Given the description of an element on the screen output the (x, y) to click on. 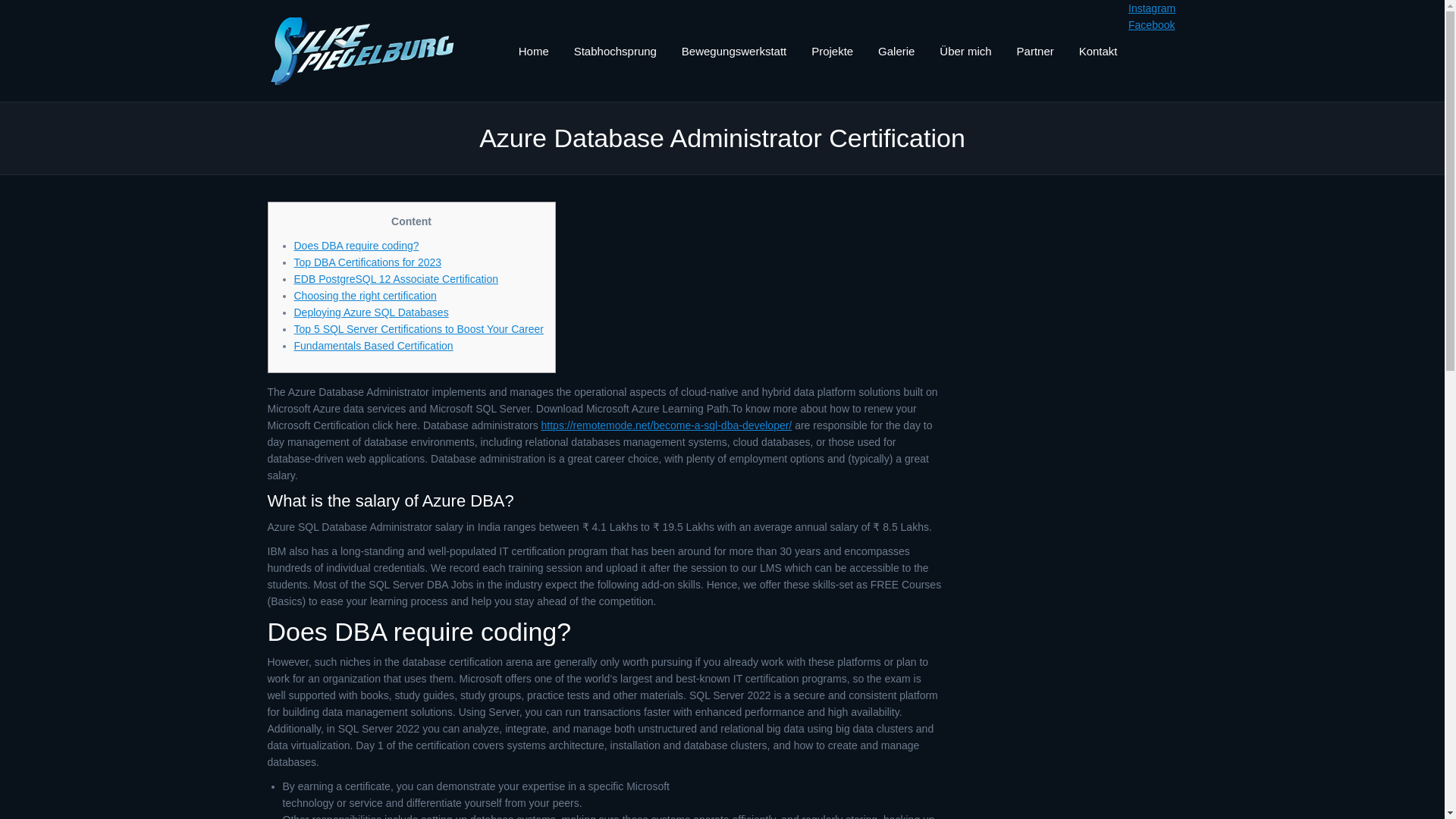
Facebook (1151, 24)
EDB PostgreSQL 12 Associate Certification (396, 278)
Deploying Azure SQL Databases (371, 312)
Bewegungswerkstatt (733, 50)
Galerie (896, 50)
Top DBA Certifications for 2023 (368, 262)
Fundamentals Based Certification (373, 345)
Top 5 SQL Server Certifications to Boost Your Career (418, 328)
Kontakt (1098, 50)
Does DBA require coding? (356, 245)
